Given the description of an element on the screen output the (x, y) to click on. 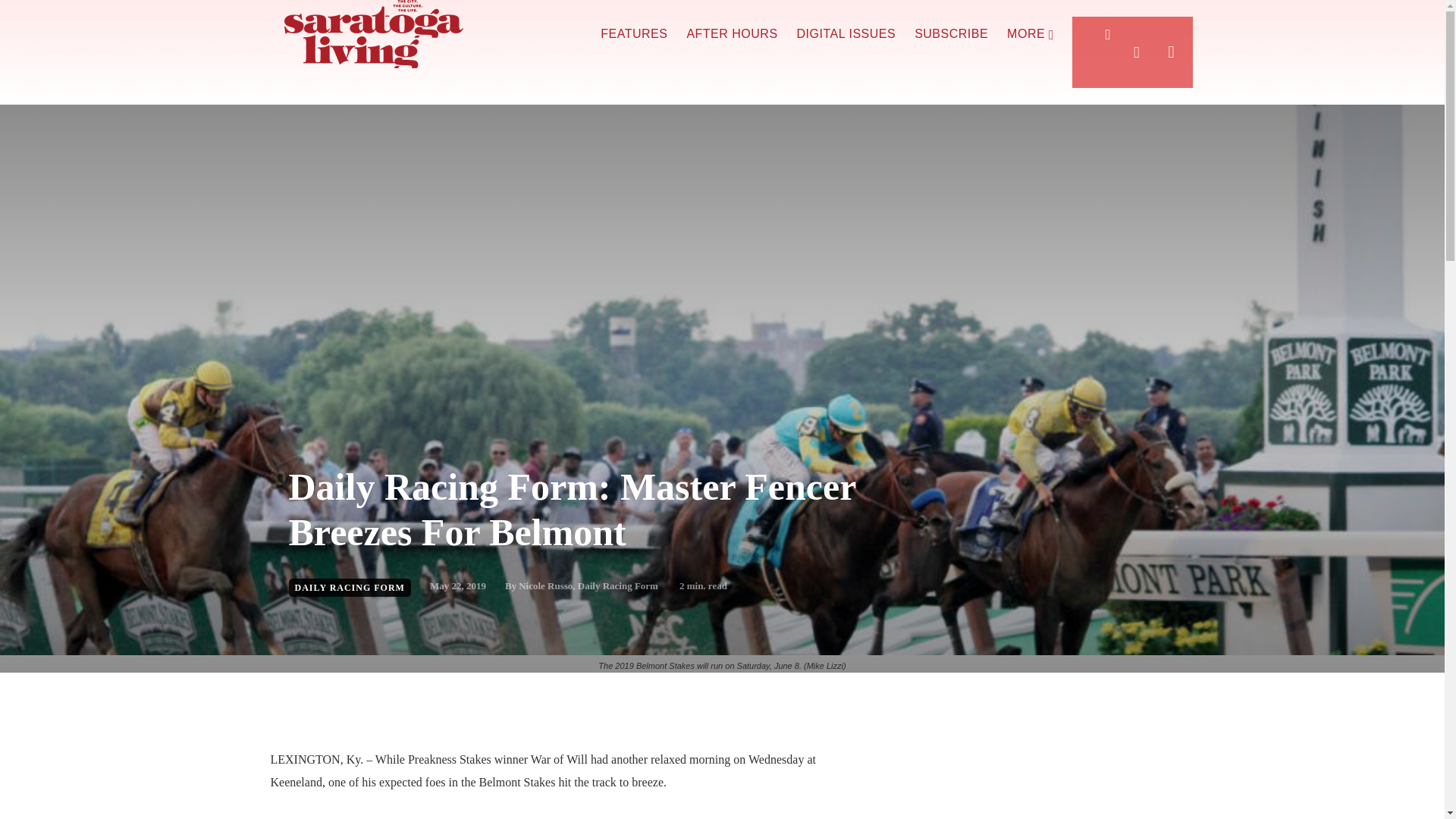
DAILY RACING FORM (349, 587)
DIGITAL ISSUES (846, 33)
Nicole Russo, Daily Racing Form (588, 585)
FEATURES (632, 33)
AFTER HOURS (731, 33)
SUBSCRIBE (951, 33)
